Given the description of an element on the screen output the (x, y) to click on. 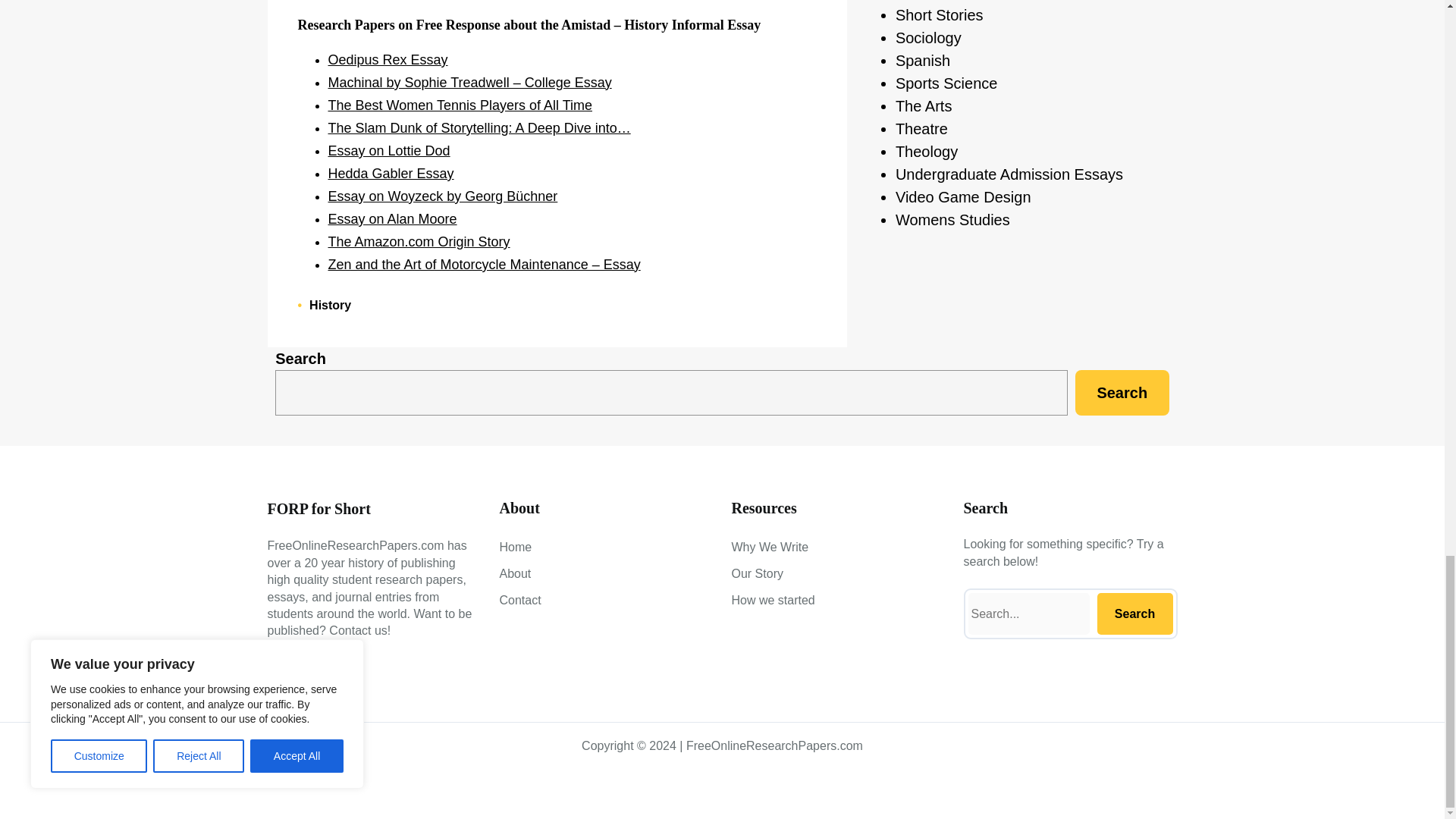
Essay on Lottie Dod (388, 150)
History (329, 305)
Oedipus Rex Essay (386, 59)
Essay on Alan Moore (392, 218)
Hedda Gabler Essay (389, 173)
The Amazon.com Origin Story (418, 241)
The Best Women Tennis Players of All Time (459, 105)
